Given the description of an element on the screen output the (x, y) to click on. 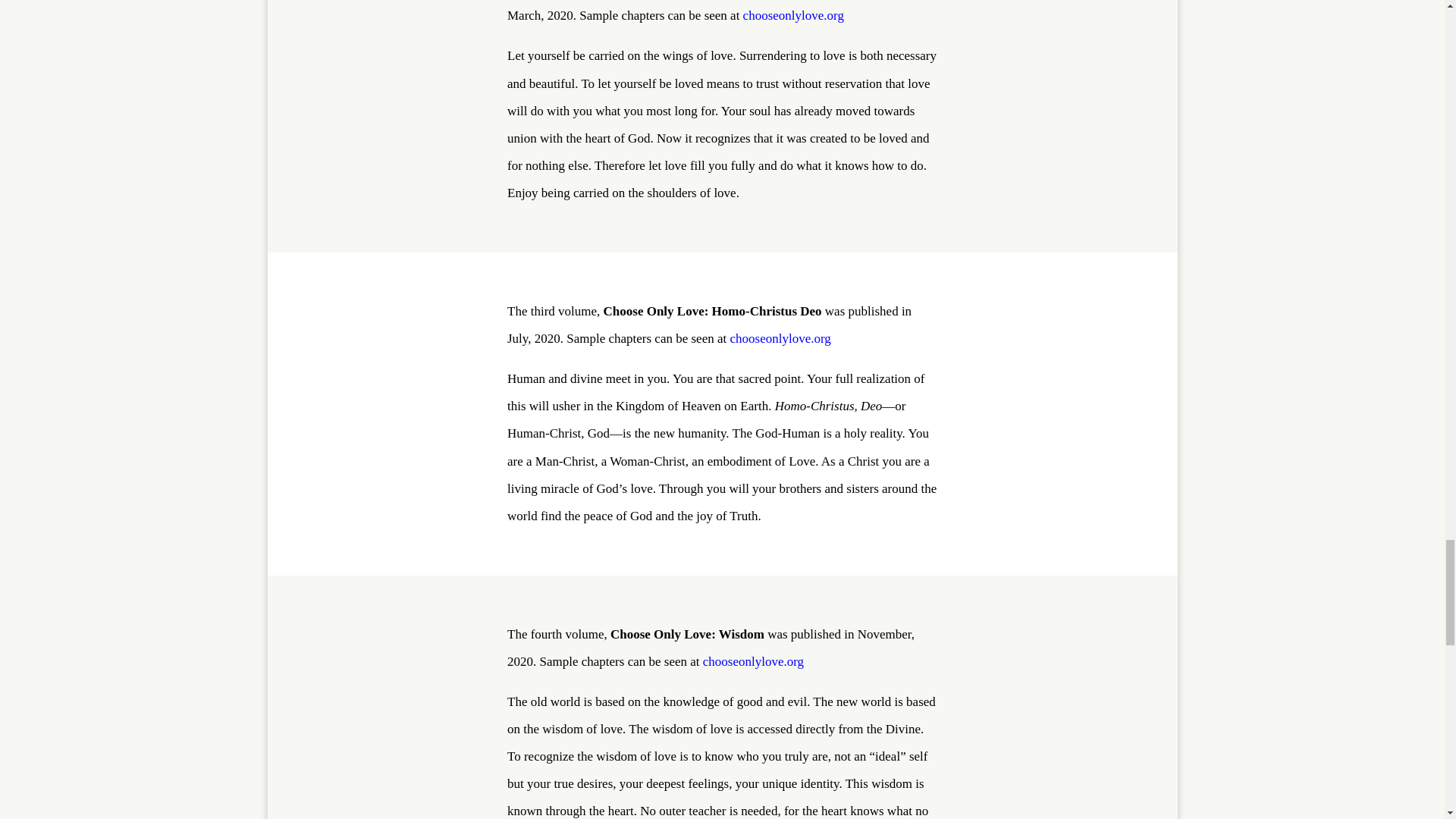
chooseonlylove.org (753, 661)
chooseonlylove.org (793, 15)
chooseonlylove.org (779, 338)
